Given the description of an element on the screen output the (x, y) to click on. 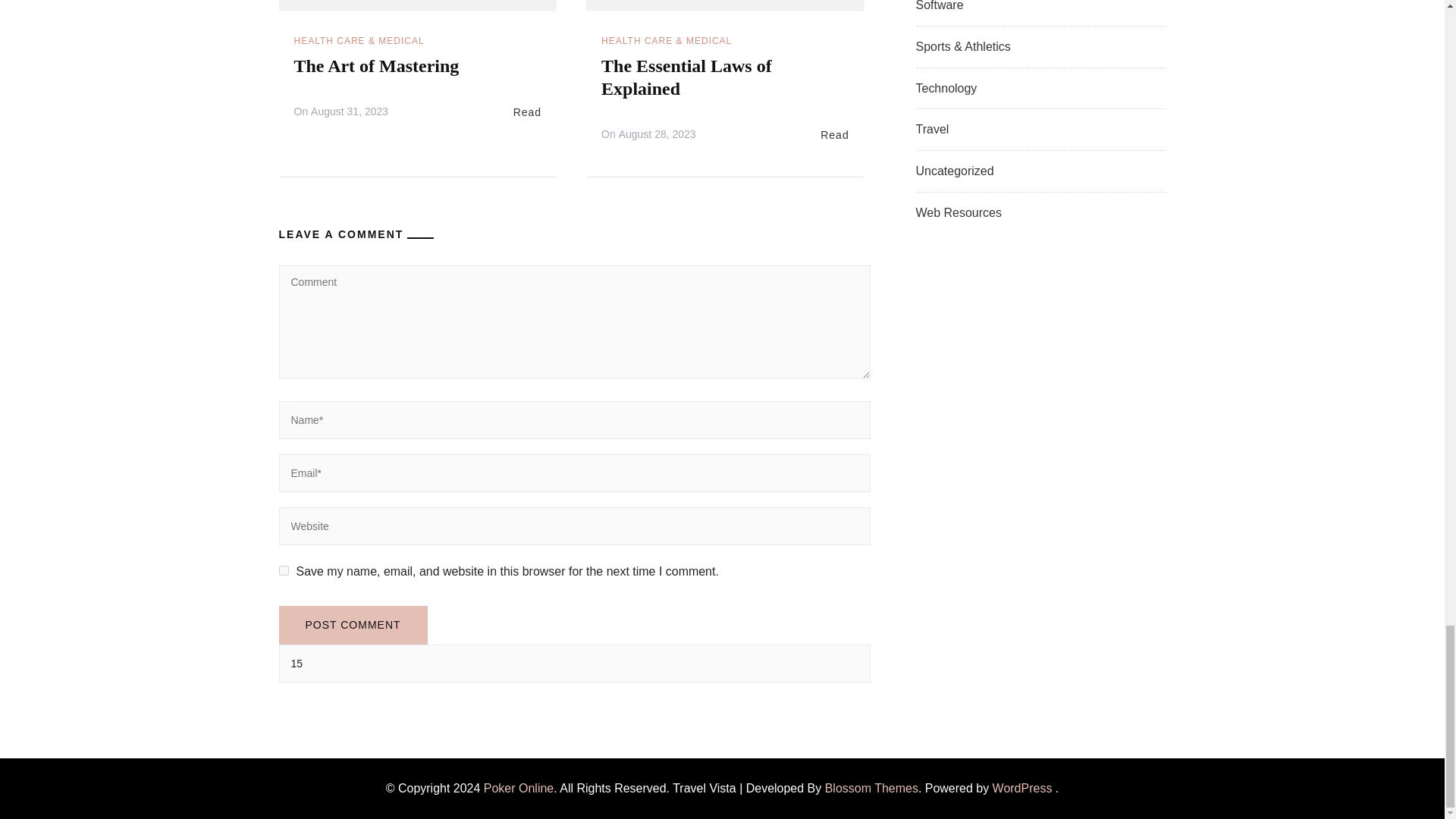
August 28, 2023 (656, 134)
Post Comment (353, 625)
yes (283, 570)
Read (834, 135)
Post Comment (353, 625)
The Art of Mastering (377, 66)
August 31, 2023 (349, 111)
15 (574, 663)
The Essential Laws of Explained (686, 77)
Read (527, 112)
